Given the description of an element on the screen output the (x, y) to click on. 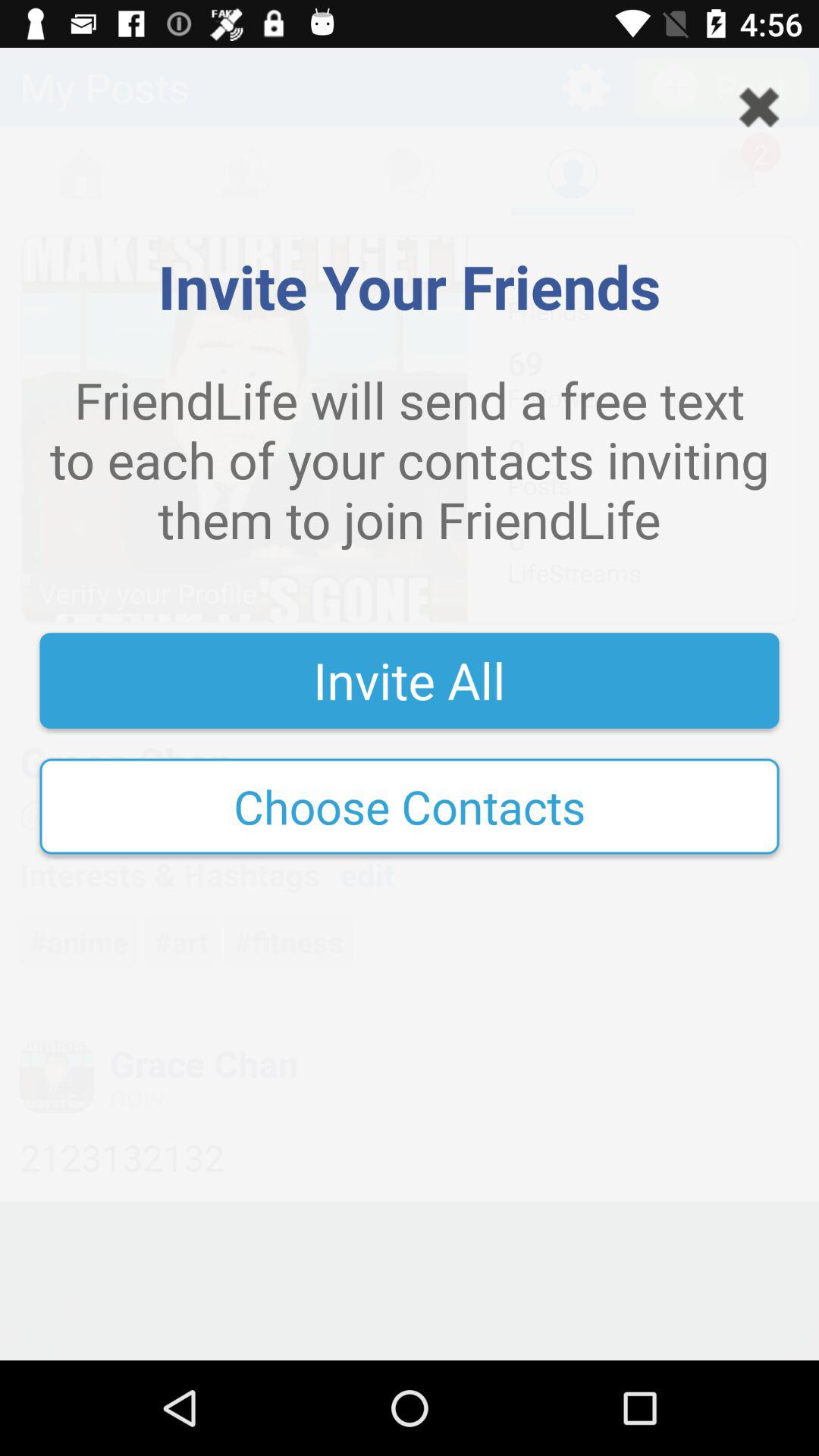
press invite all item (409, 680)
